Given the description of an element on the screen output the (x, y) to click on. 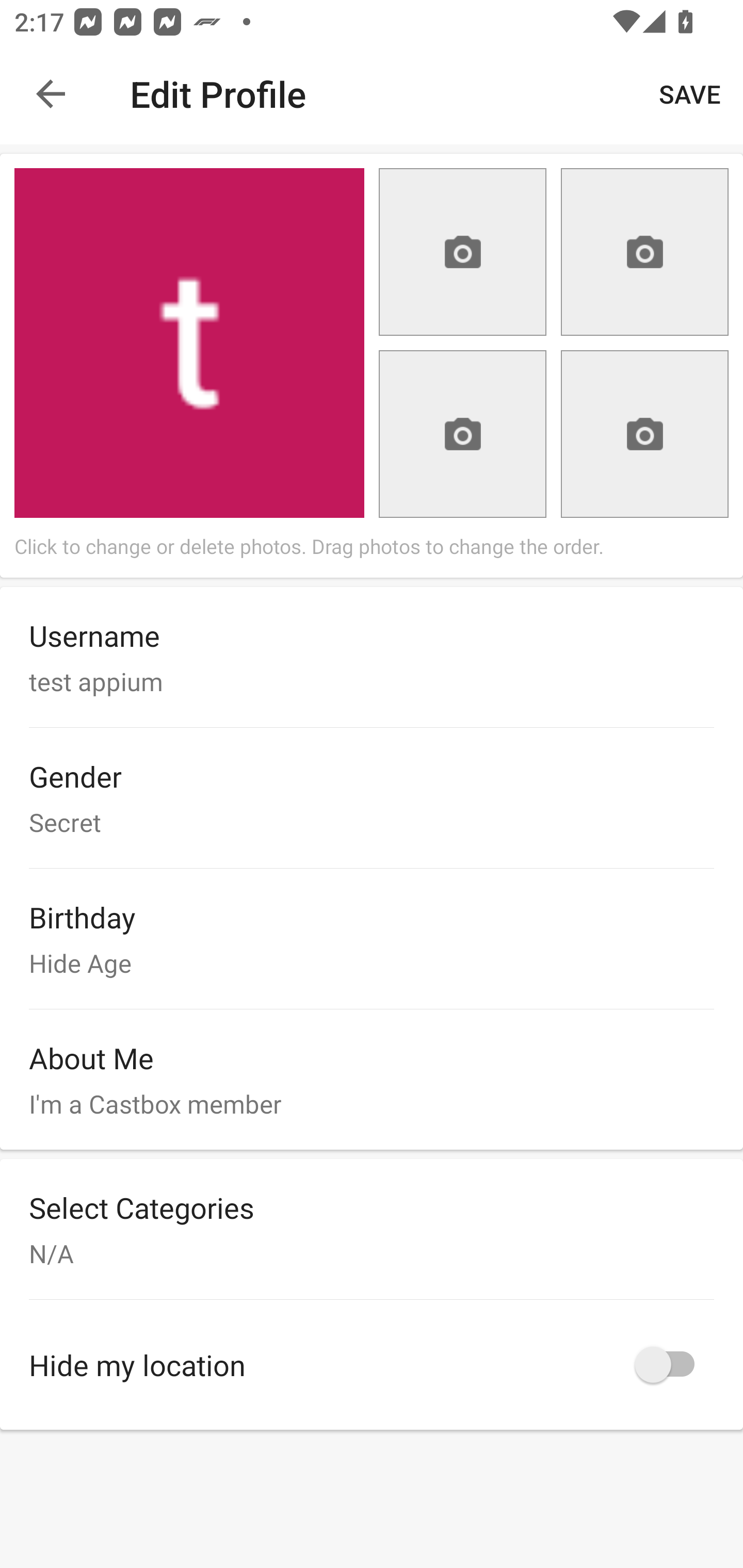
Navigate up (50, 93)
SAVE (690, 93)
Username test appium (371, 656)
Gender Secret (371, 797)
Birthday Hide Age (371, 938)
About Me I'm a Castbox member (371, 1079)
Select Categories N/A (371, 1228)
Hide my location (371, 1364)
